Given the description of an element on the screen output the (x, y) to click on. 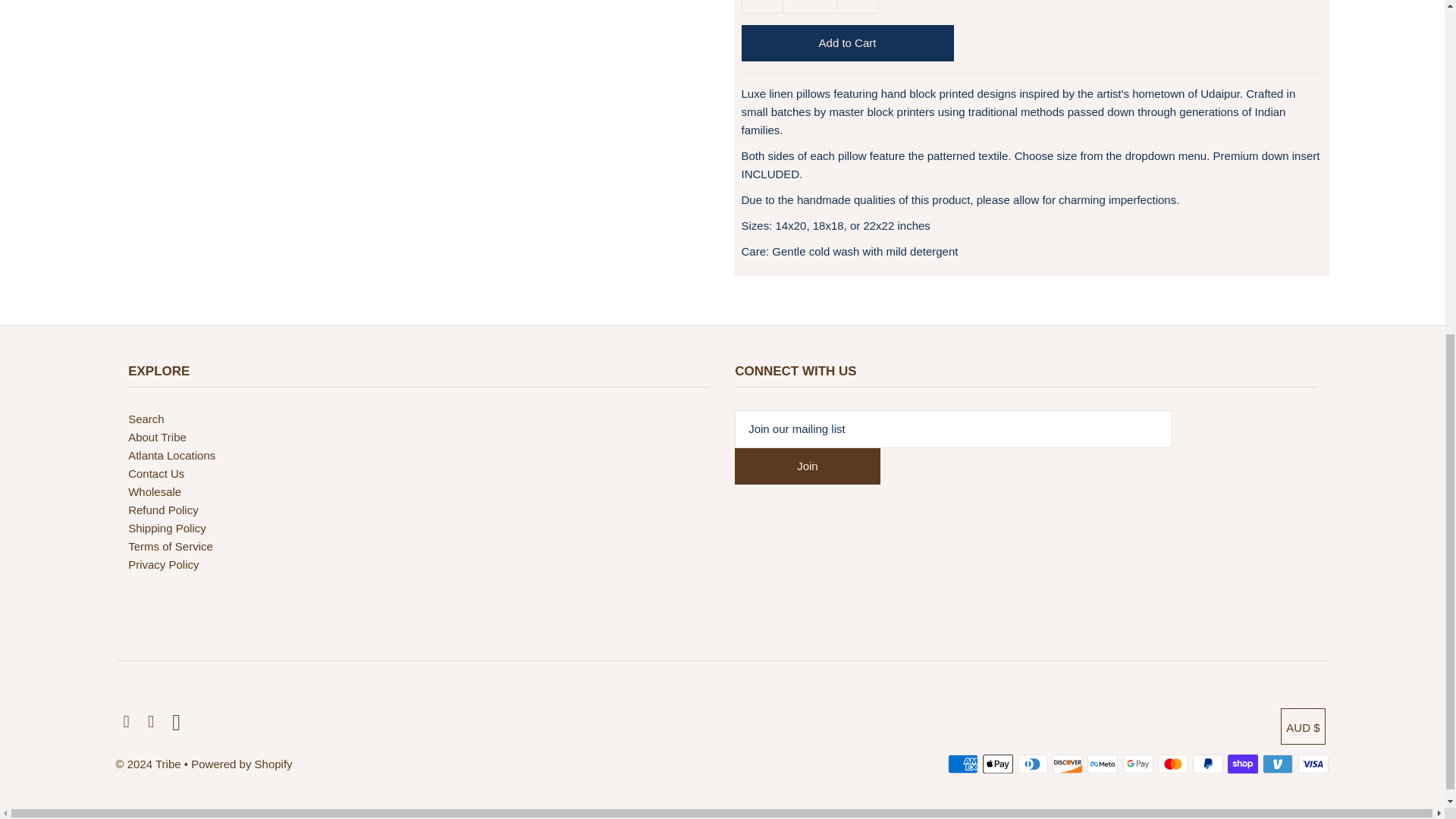
Venmo (1277, 763)
Add to Cart (847, 43)
Join (807, 465)
Diners Club (1032, 763)
American Express (962, 763)
Mastercard (1172, 763)
Google Pay (1137, 763)
Discover (1067, 763)
1 (810, 6)
Apple Pay (997, 763)
PayPal (1207, 763)
Meta Pay (1102, 763)
Visa (1312, 763)
Shop Pay (1242, 763)
